Given the description of an element on the screen output the (x, y) to click on. 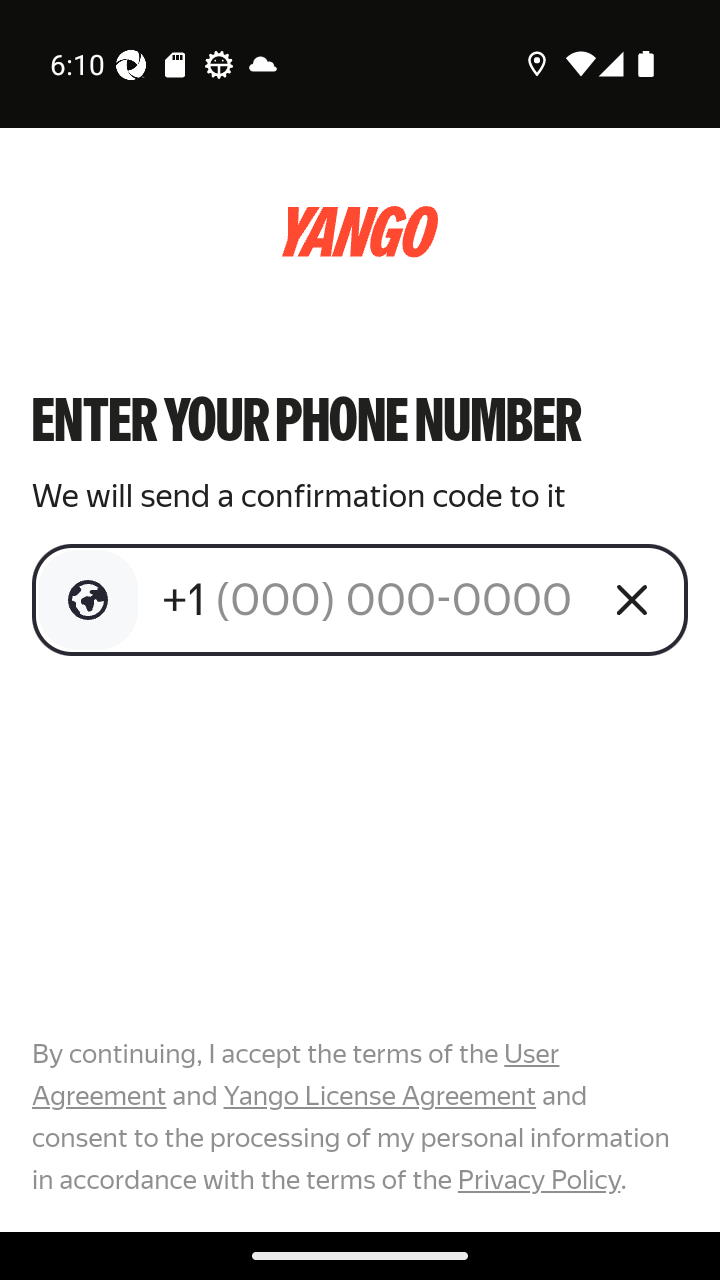
logo (359, 231)
  (88, 600)
+1 (372, 599)
User Agreement (295, 1075)
Yango License Agreement (379, 1096)
Privacy Policy (538, 1179)
